Given the description of an element on the screen output the (x, y) to click on. 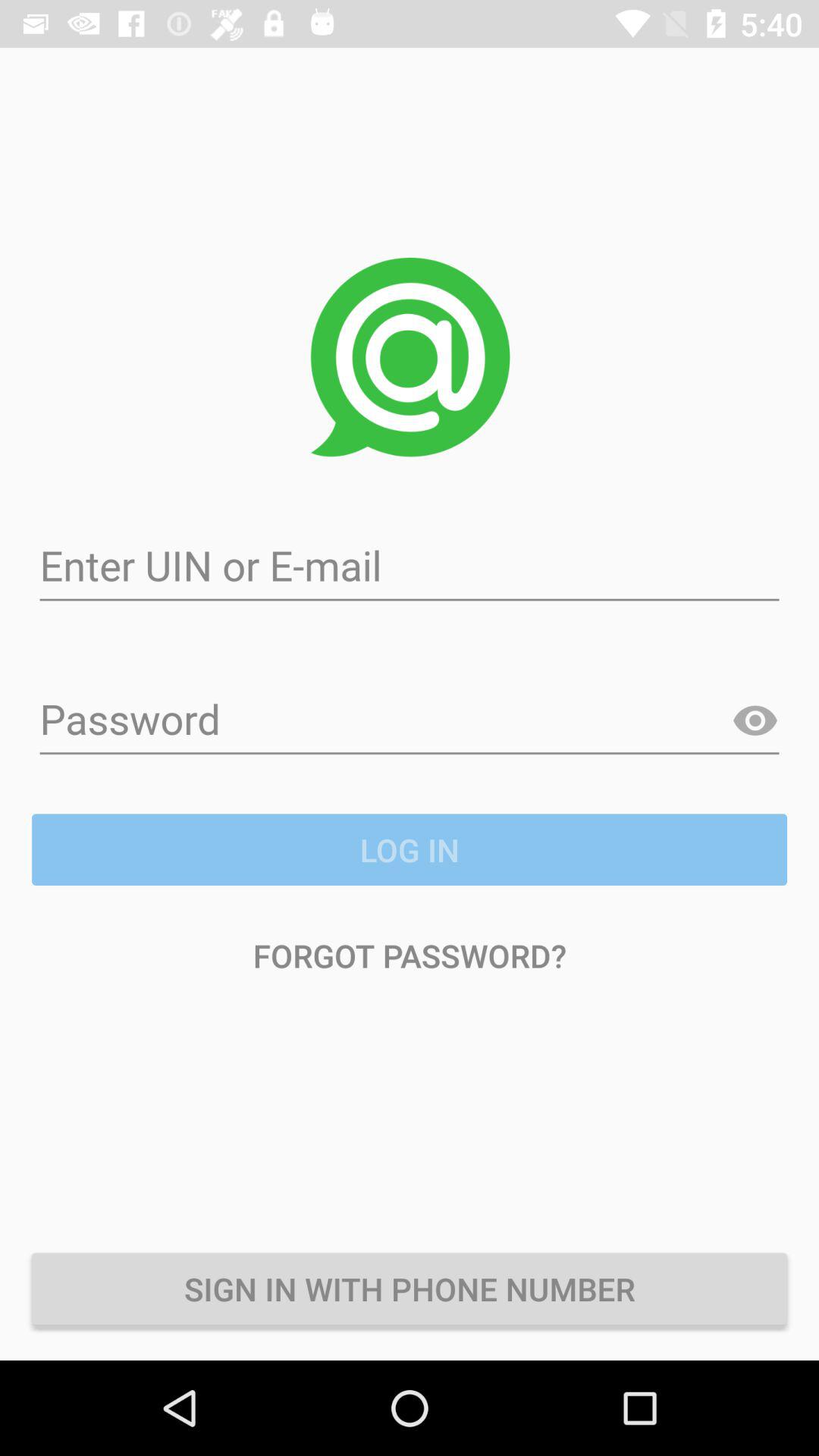
click log in icon (409, 849)
